Given the description of an element on the screen output the (x, y) to click on. 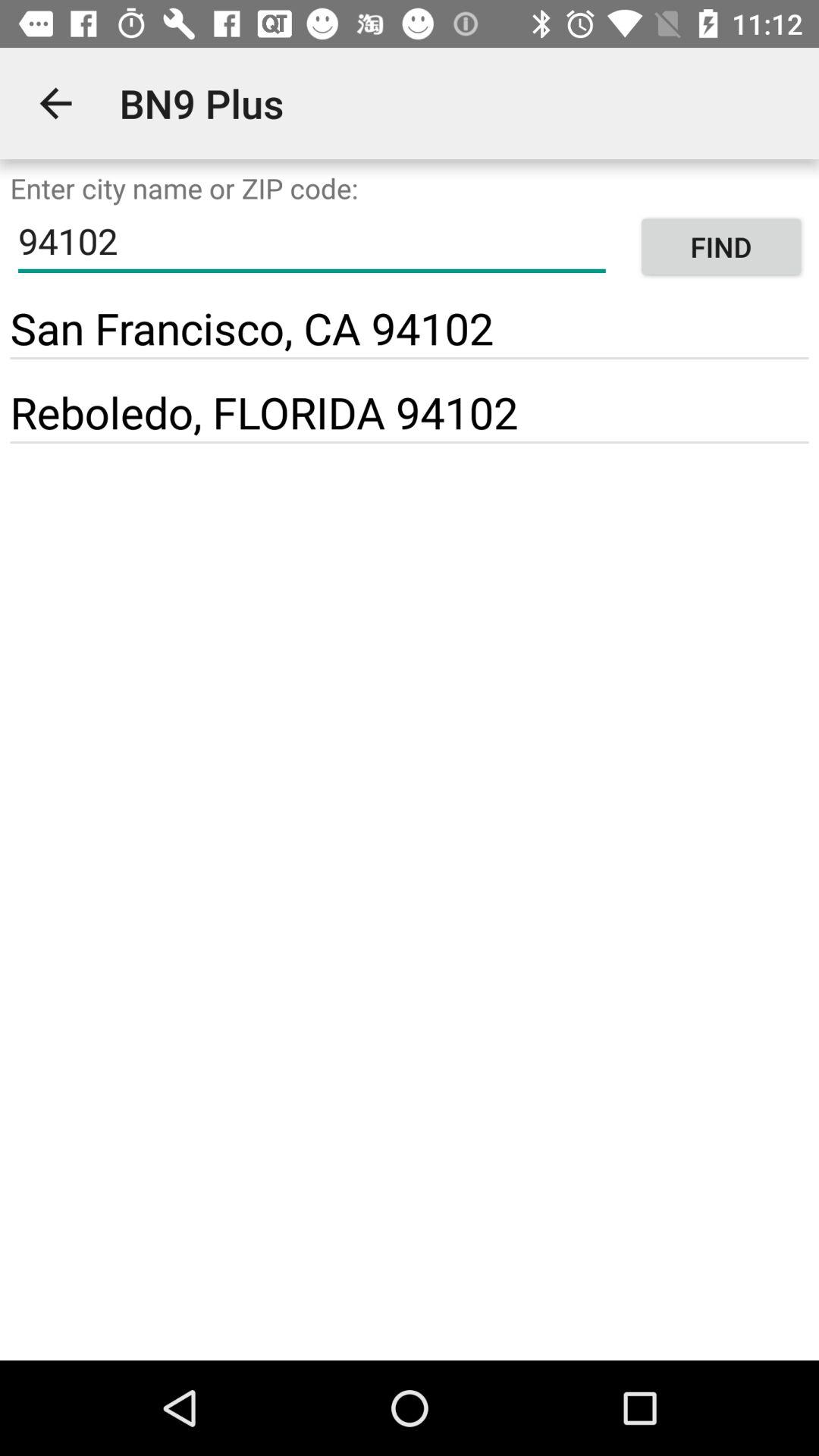
swipe to reboledo, florida 94102 (264, 411)
